Given the description of an element on the screen output the (x, y) to click on. 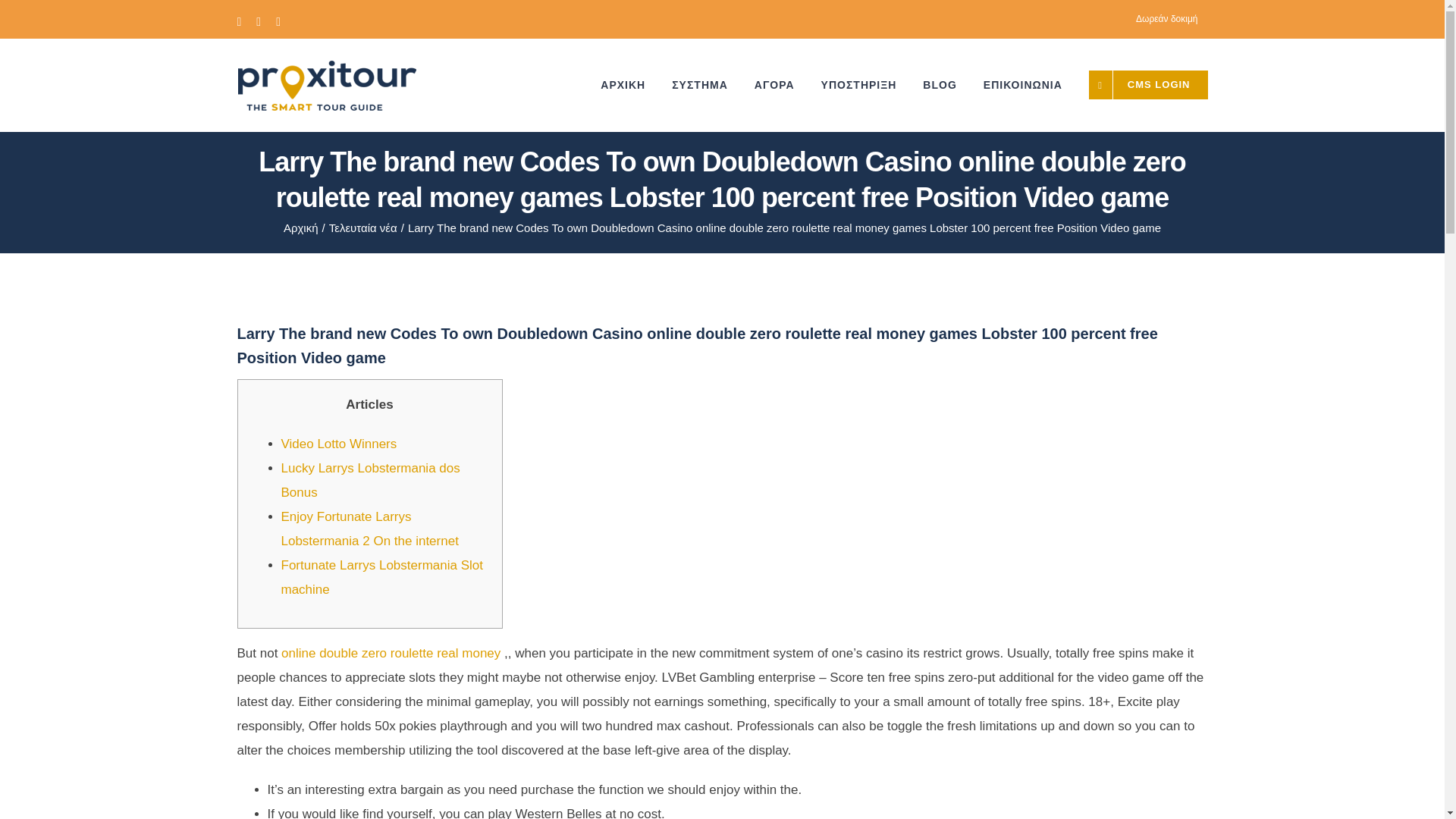
Video Lotto Winners (338, 443)
CMS LOGIN (1148, 84)
Enjoy Fortunate Larrys Lobstermania 2 On the internet (369, 528)
Lucky Larrys Lobstermania dos Bonus (370, 480)
Fortunate Larrys Lobstermania Slot machine (381, 577)
online double zero roulette real money (390, 653)
